Given the description of an element on the screen output the (x, y) to click on. 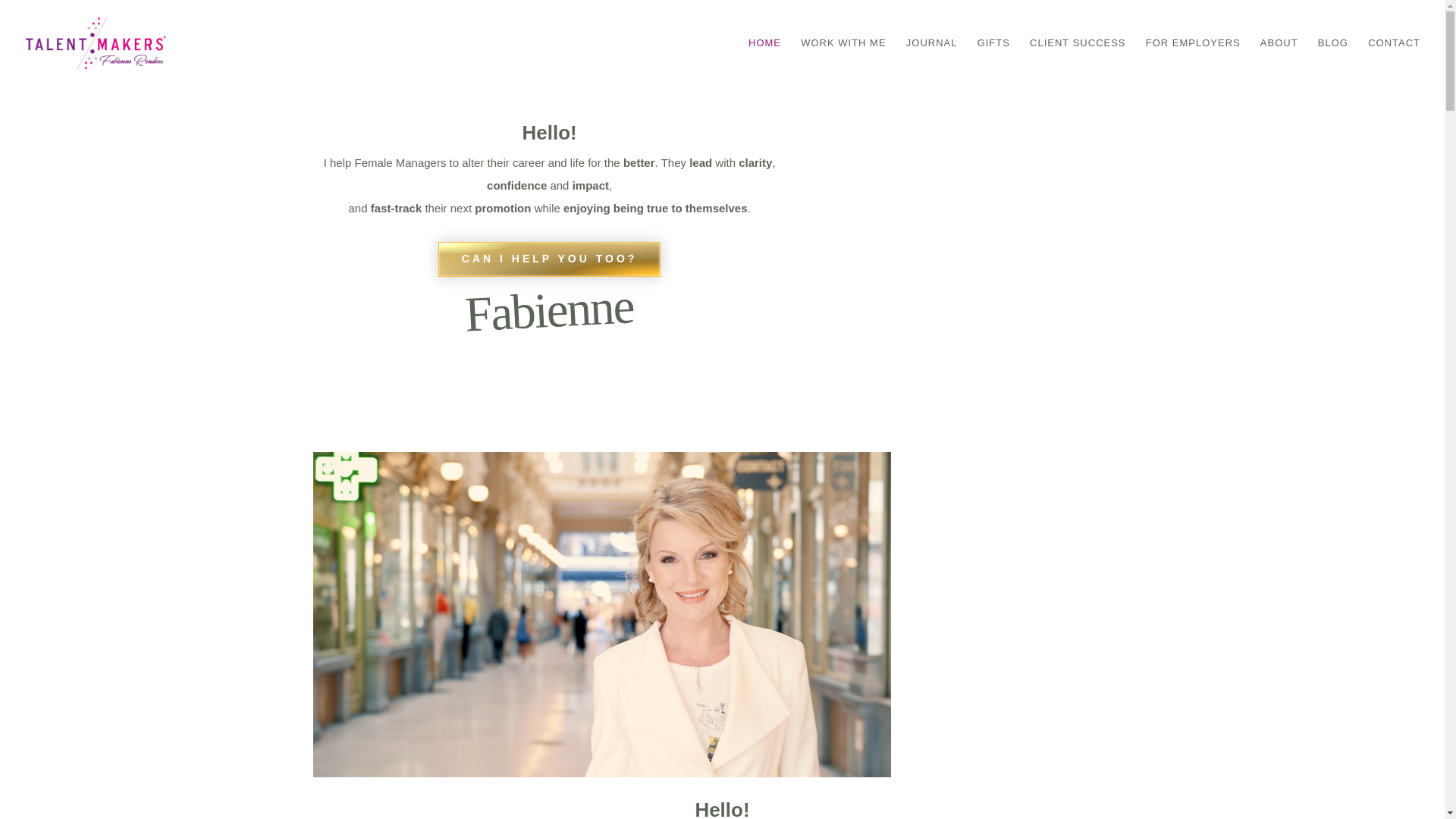
WORK WITH ME (842, 61)
CONTACT (1394, 61)
CLIENT SUCCESS (1077, 61)
CAN I HELP YOU TOO? (549, 258)
JOURNAL (931, 61)
FOR EMPLOYERS (1192, 61)
